Given the description of an element on the screen output the (x, y) to click on. 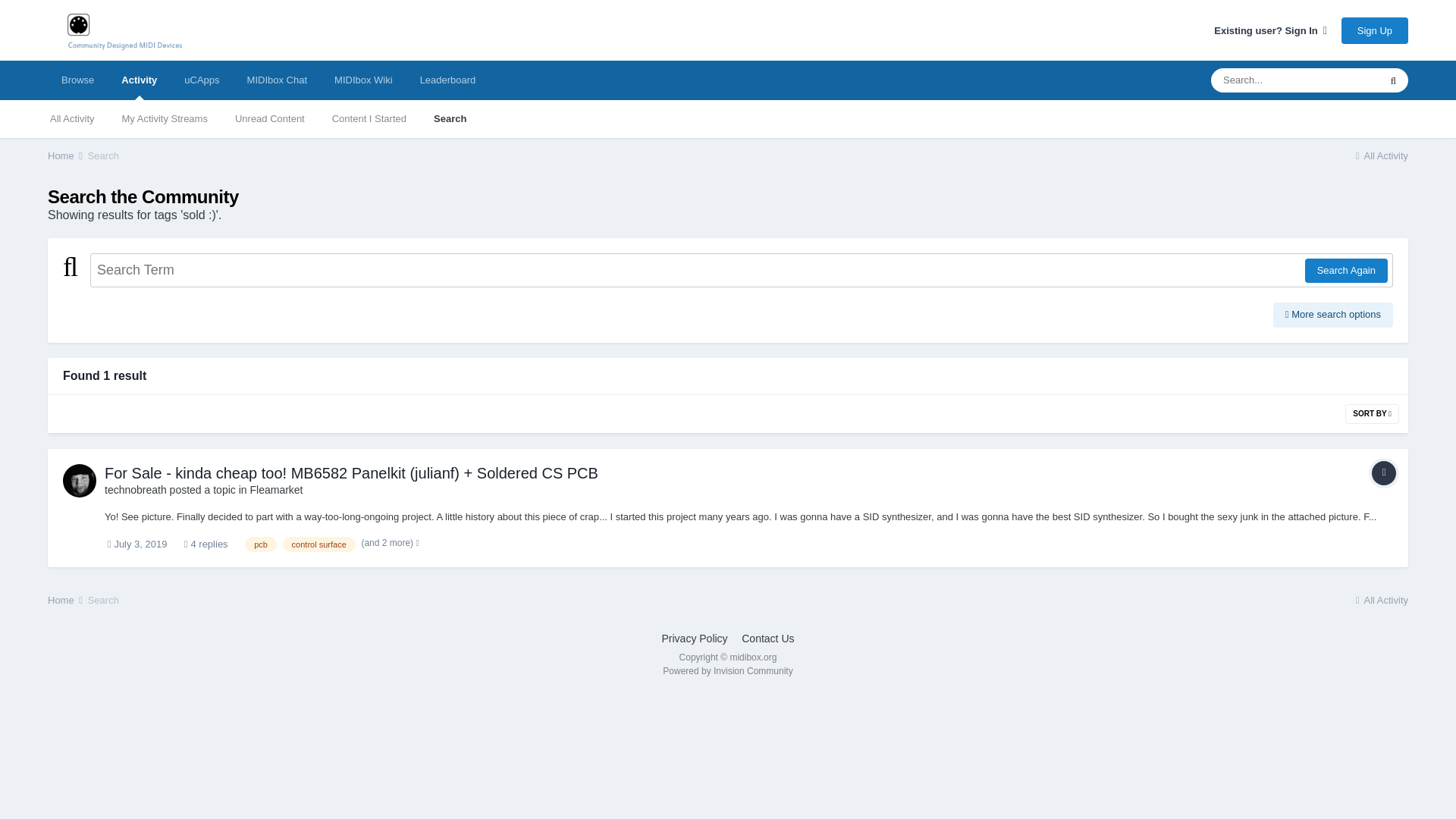
My Activity Streams (164, 118)
MIDIbox Wiki (363, 79)
MIDIbox Chat (276, 79)
Browse (77, 79)
Find other content tagged with 'control surface' (318, 544)
Home (66, 155)
Activity (138, 79)
Sign Up (1373, 29)
Go to technobreath's profile (79, 480)
Content I Started (369, 118)
Search (103, 155)
Leaderboard (447, 79)
Unread Content (269, 118)
All Activity (1380, 155)
Home (66, 155)
